Given the description of an element on the screen output the (x, y) to click on. 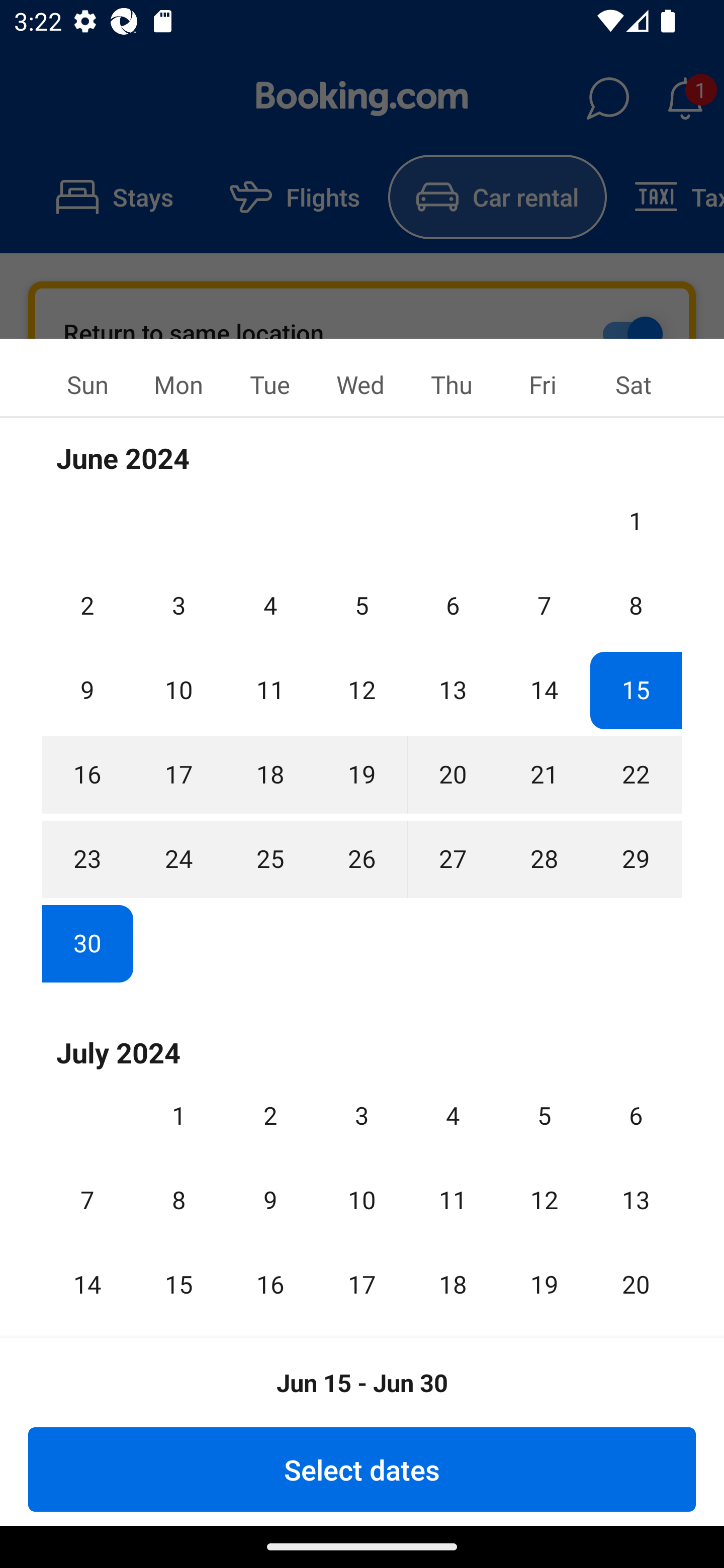
Select dates (361, 1468)
